Given the description of an element on the screen output the (x, y) to click on. 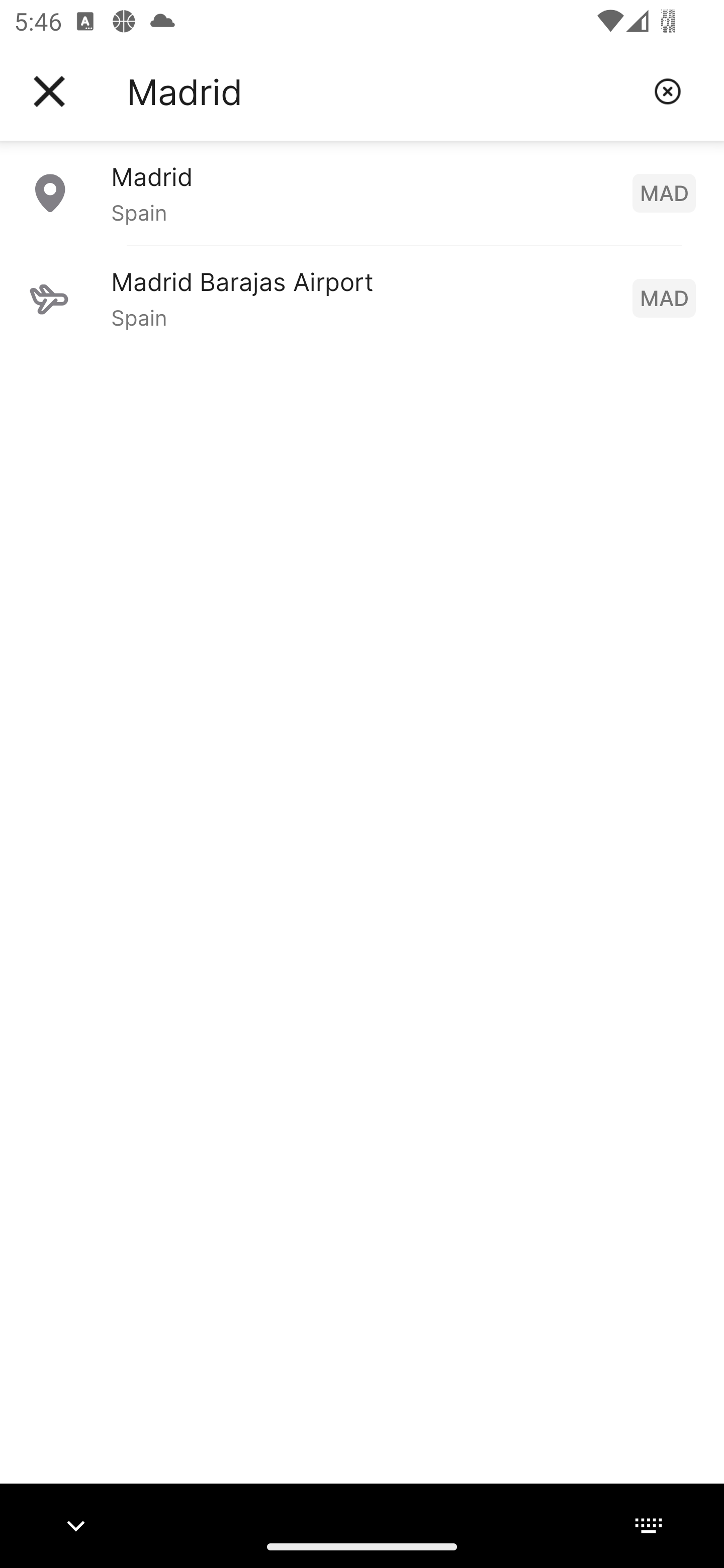
Madrid (382, 91)
Madrid Spain MAD (362, 192)
Madrid Barajas Airport Spain MAD (362, 297)
